Given the description of an element on the screen output the (x, y) to click on. 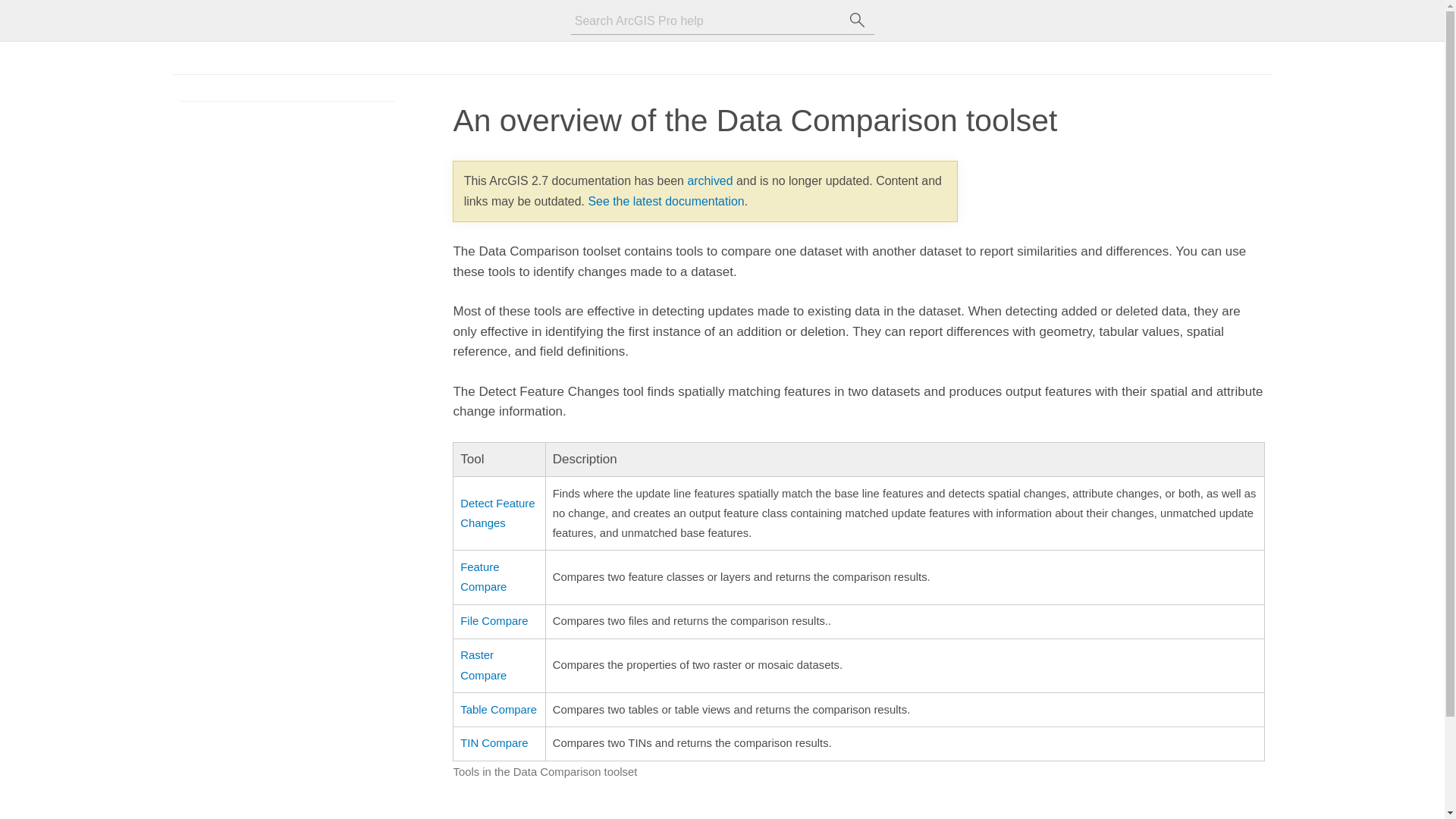
archived (709, 180)
Detect Feature Changes (497, 513)
File Compare (493, 621)
TIN Compare (493, 743)
Feature Compare (483, 576)
Raster Compare (483, 664)
Table Compare (498, 709)
See the latest documentation (666, 201)
